Given the description of an element on the screen output the (x, y) to click on. 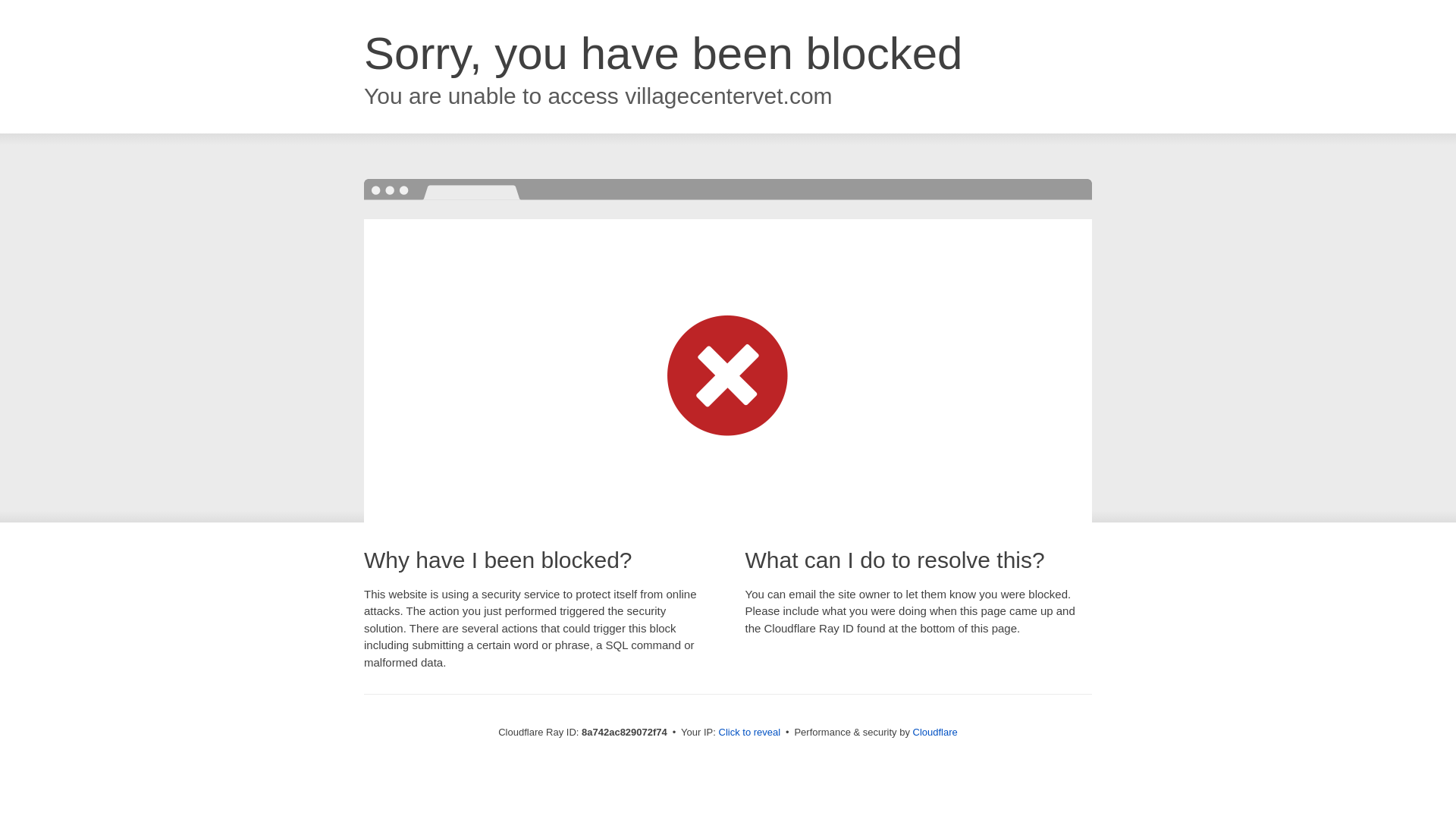
Click to reveal (749, 732)
Cloudflare (935, 731)
